Given the description of an element on the screen output the (x, y) to click on. 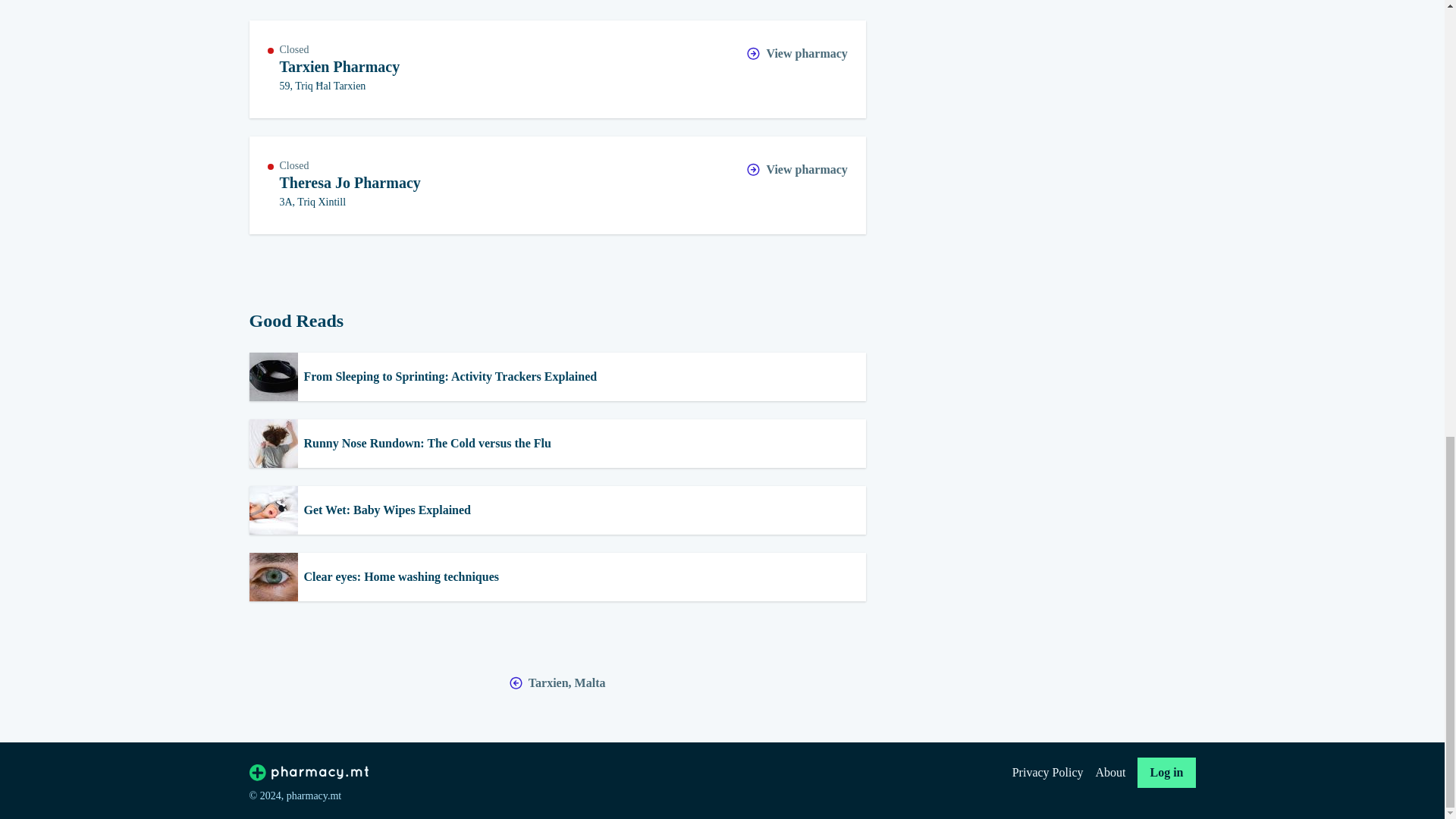
Get Wet: Baby Wipes Explained (556, 510)
Clear eyes: Home washing techniques (556, 576)
Runny Nose Rundown: The Cold versus the Flu (556, 443)
View pharmacy (796, 54)
From Sleeping to Sprinting: Activity Trackers Explained (556, 376)
View pharmacy (796, 169)
